Given the description of an element on the screen output the (x, y) to click on. 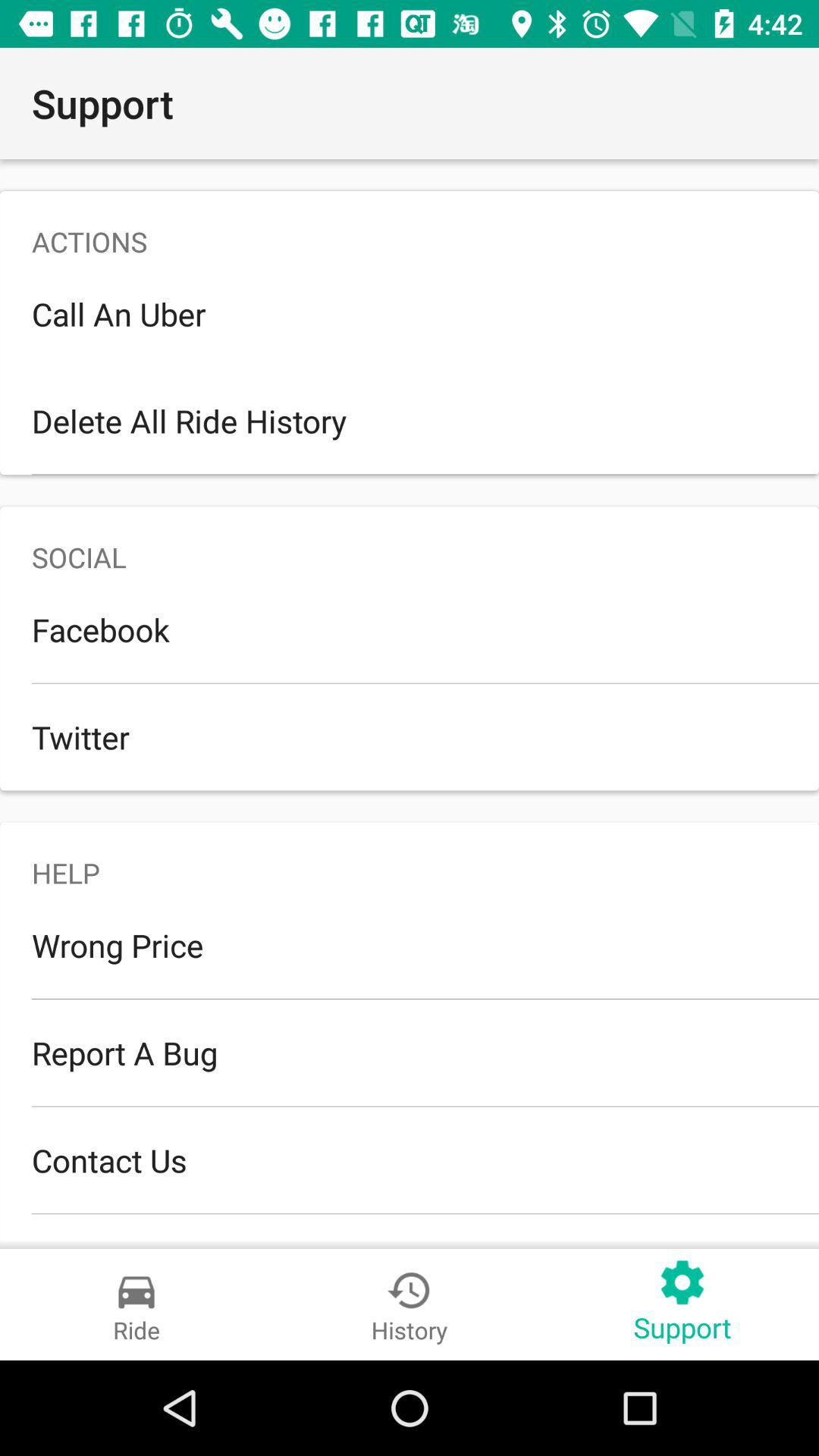
swipe until wrong price (409, 944)
